Given the description of an element on the screen output the (x, y) to click on. 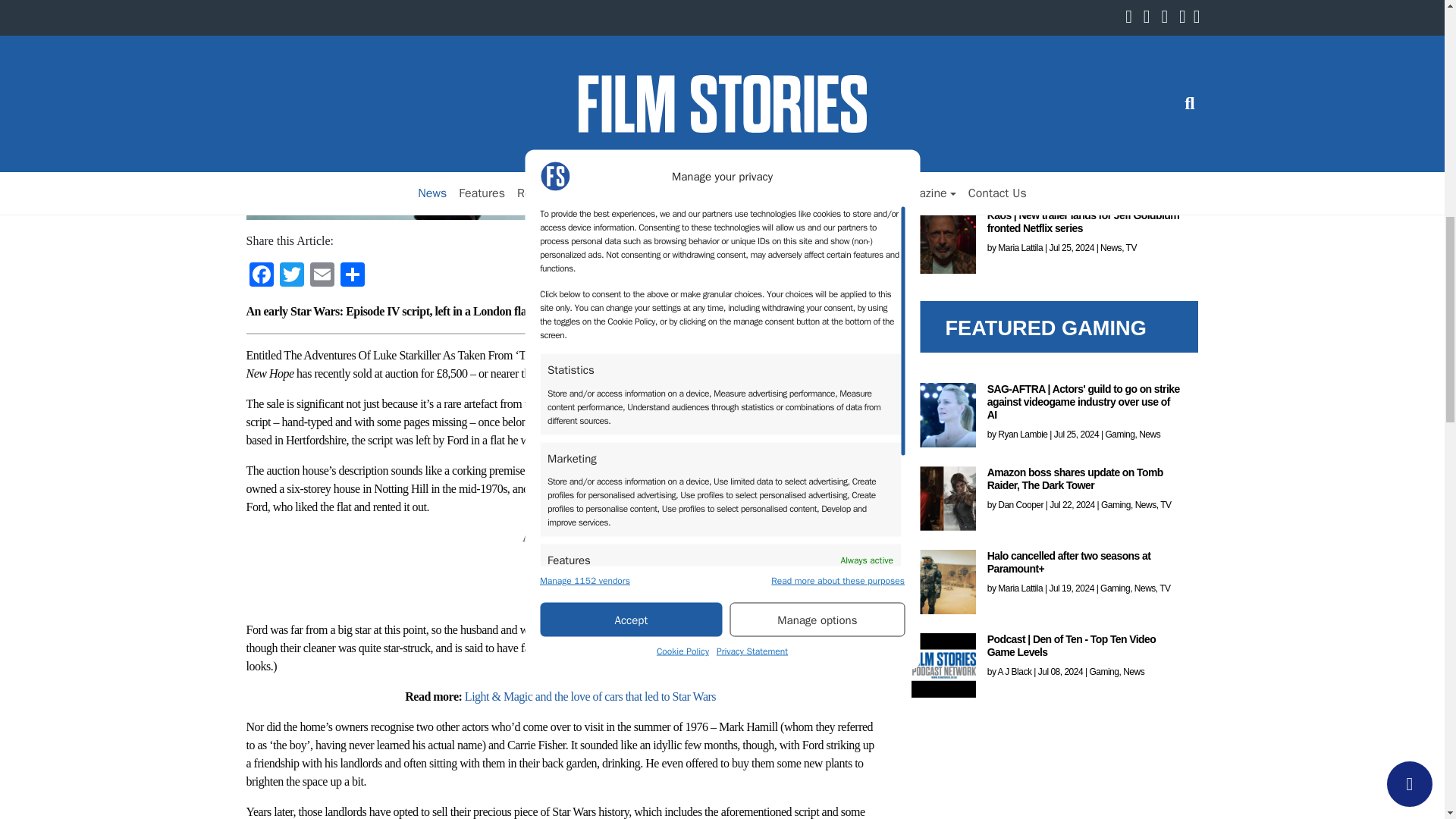
Twitter (290, 276)
Facebook (261, 276)
Email (320, 276)
